Given the description of an element on the screen output the (x, y) to click on. 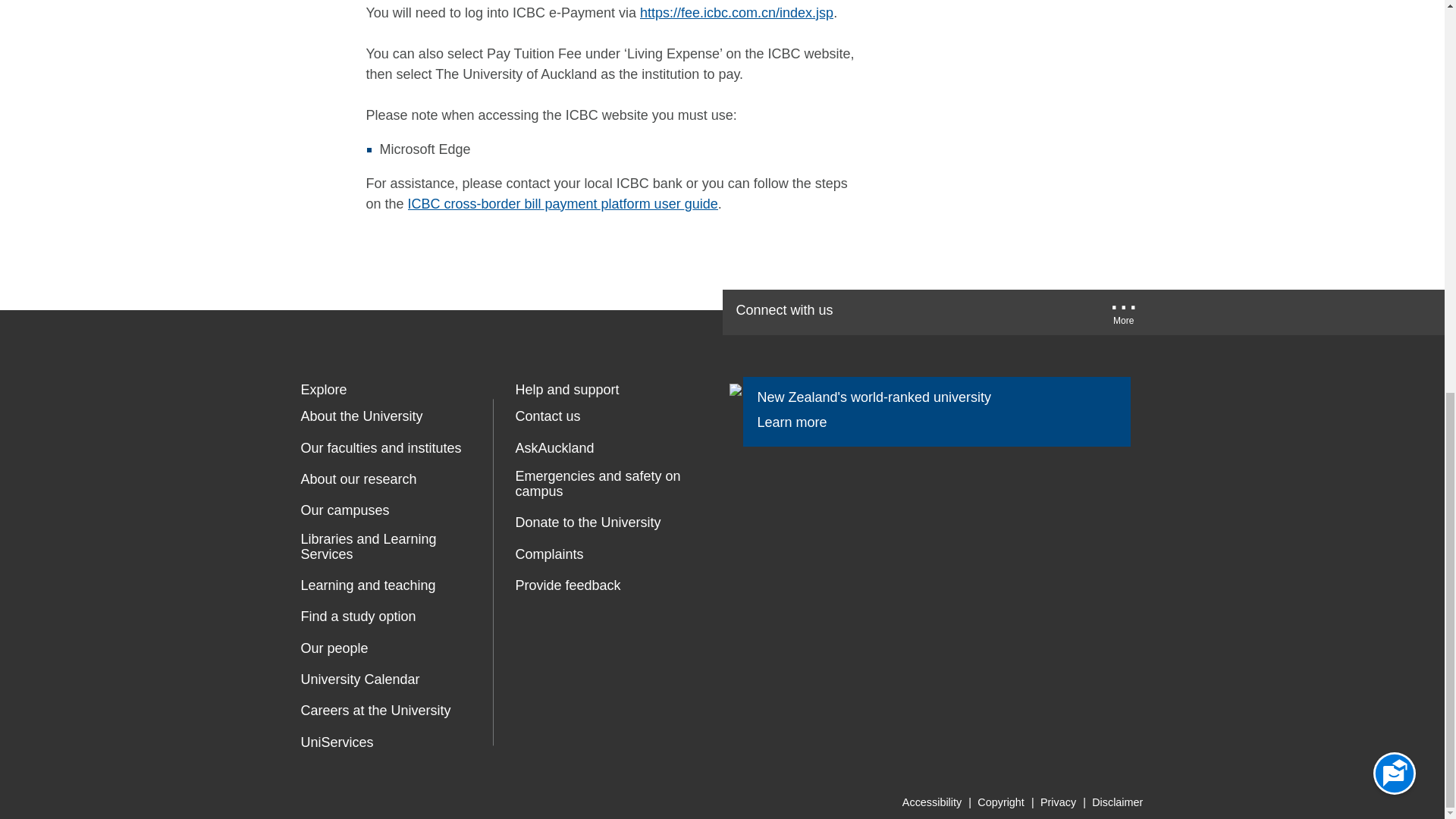
Instagram (1069, 312)
Women's Refuge (528, 650)
Twitter (925, 312)
YouTube (972, 312)
Facebook (876, 312)
University of Auckland More Social... (1123, 316)
Learn more (802, 422)
LinkedIn (1021, 312)
